Given the description of an element on the screen output the (x, y) to click on. 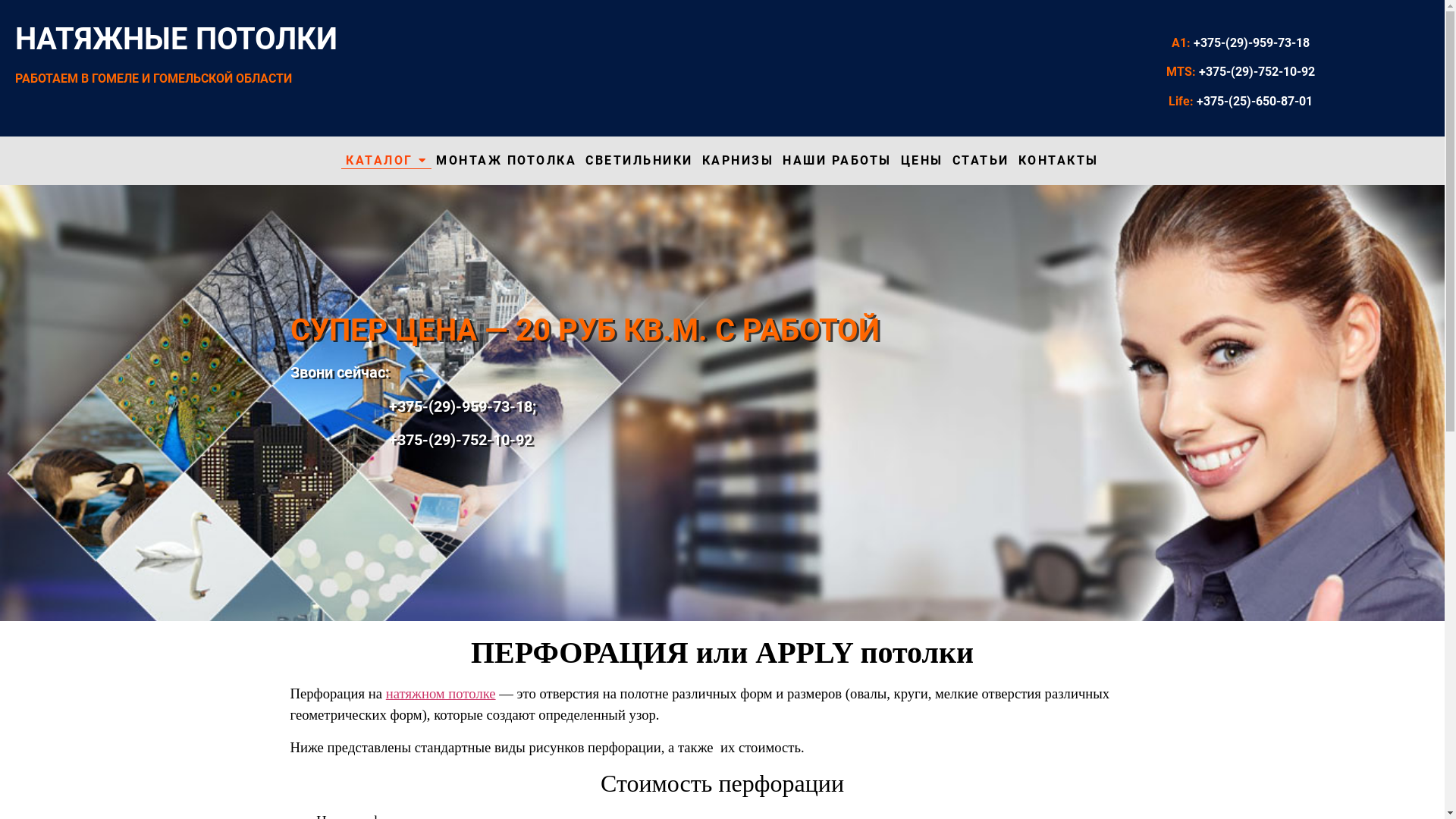
A1: +375-(29)-959-73-18 Element type: text (1240, 42)
MTS: +375-(29)-752-10-92 Element type: text (1240, 71)
Life: +375-(25)-650-87-01 Element type: text (1240, 101)
                          +375-(29)-752-10-92 Element type: text (410, 439)
                          +375-(29)-959-73-18; Element type: text (412, 406)
